Given the description of an element on the screen output the (x, y) to click on. 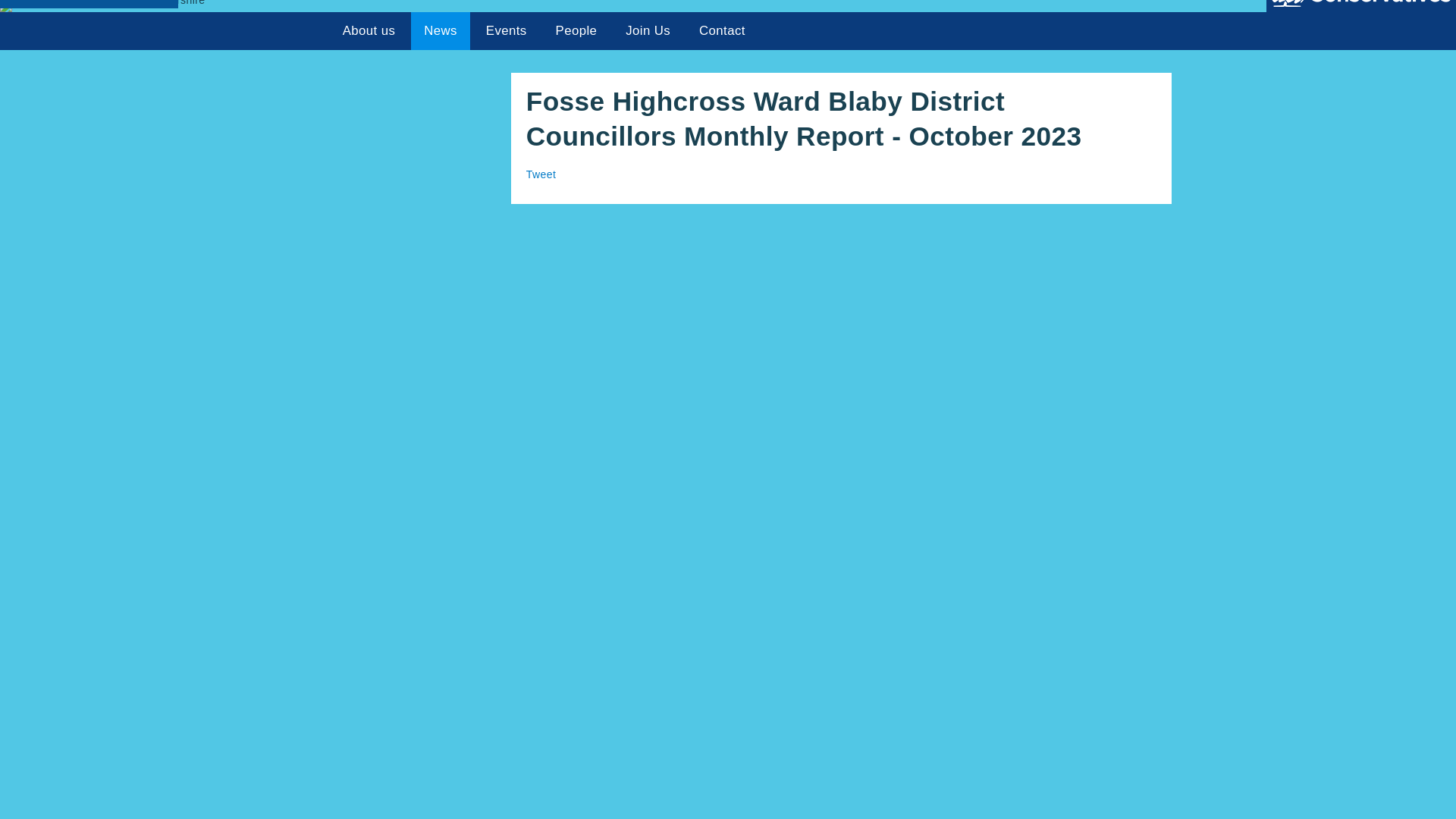
Contact (721, 30)
Future events (505, 30)
Home (304, 30)
About us (368, 30)
Events (505, 30)
People (576, 30)
Tweet (540, 174)
News (439, 30)
Join Us (647, 30)
Join Us (647, 30)
